Given the description of an element on the screen output the (x, y) to click on. 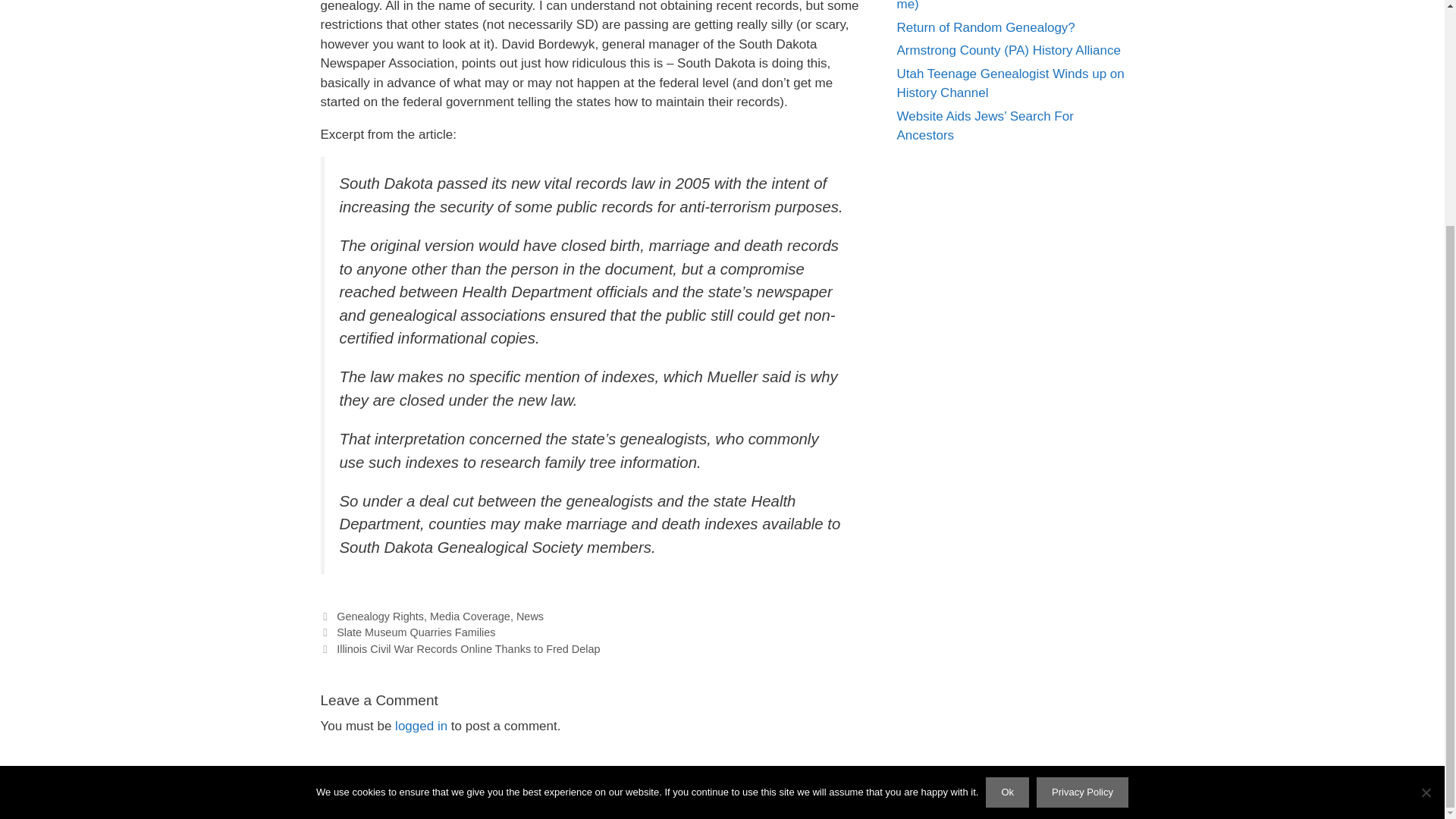
News (529, 616)
Slate Museum Quarries Families (415, 632)
Illinois Civil War Records Online Thanks to Fred Delap (467, 648)
Contact Us (821, 794)
No (1425, 490)
Utah Teenage Genealogist Winds up on History Channel (1010, 83)
Media Coverage (470, 616)
Genealogy Rights (379, 616)
Contact us (821, 794)
Privacy Policy (1082, 490)
